Given the description of an element on the screen output the (x, y) to click on. 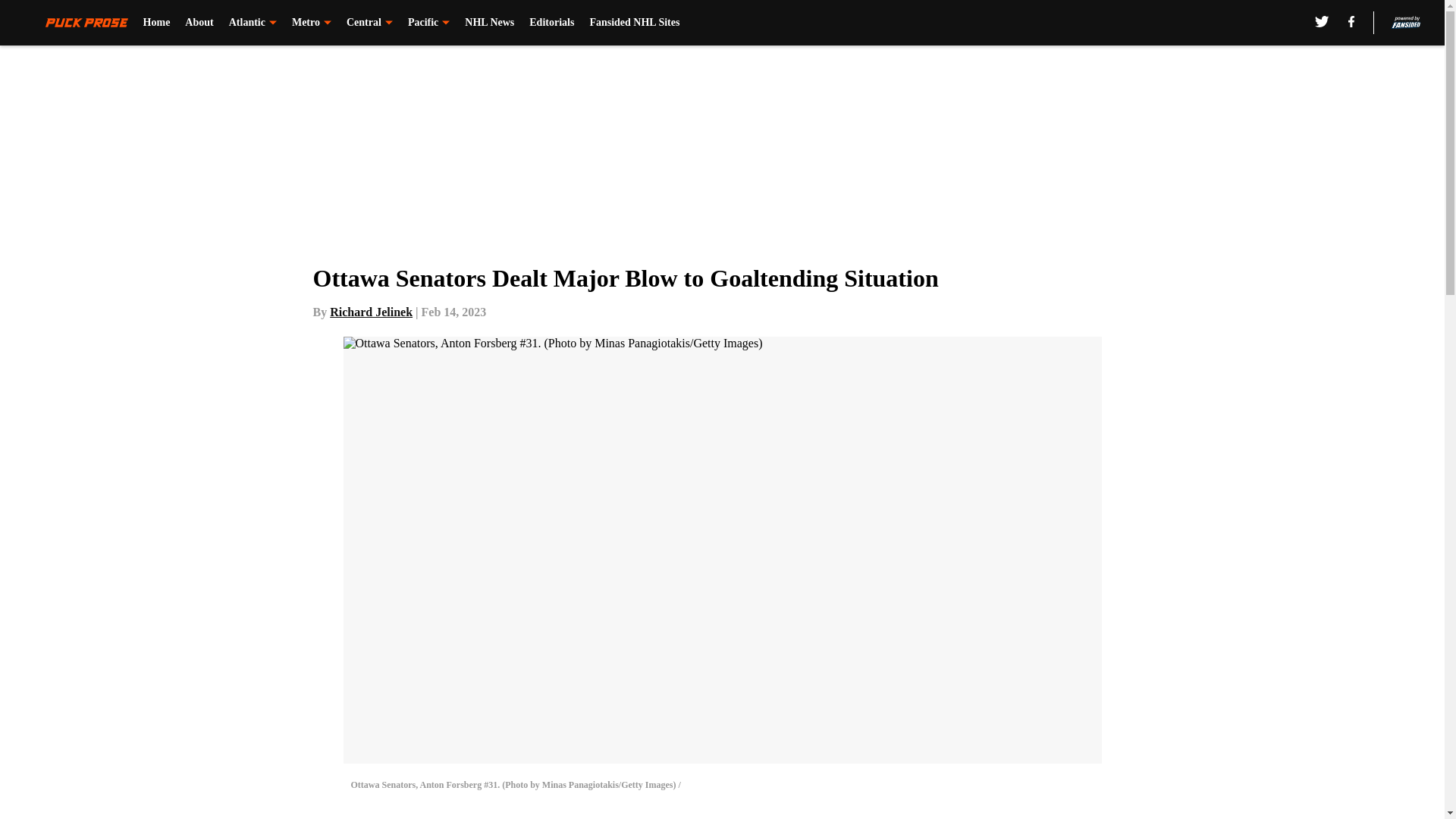
About (198, 22)
NHL News (488, 22)
Home (156, 22)
